Given the description of an element on the screen output the (x, y) to click on. 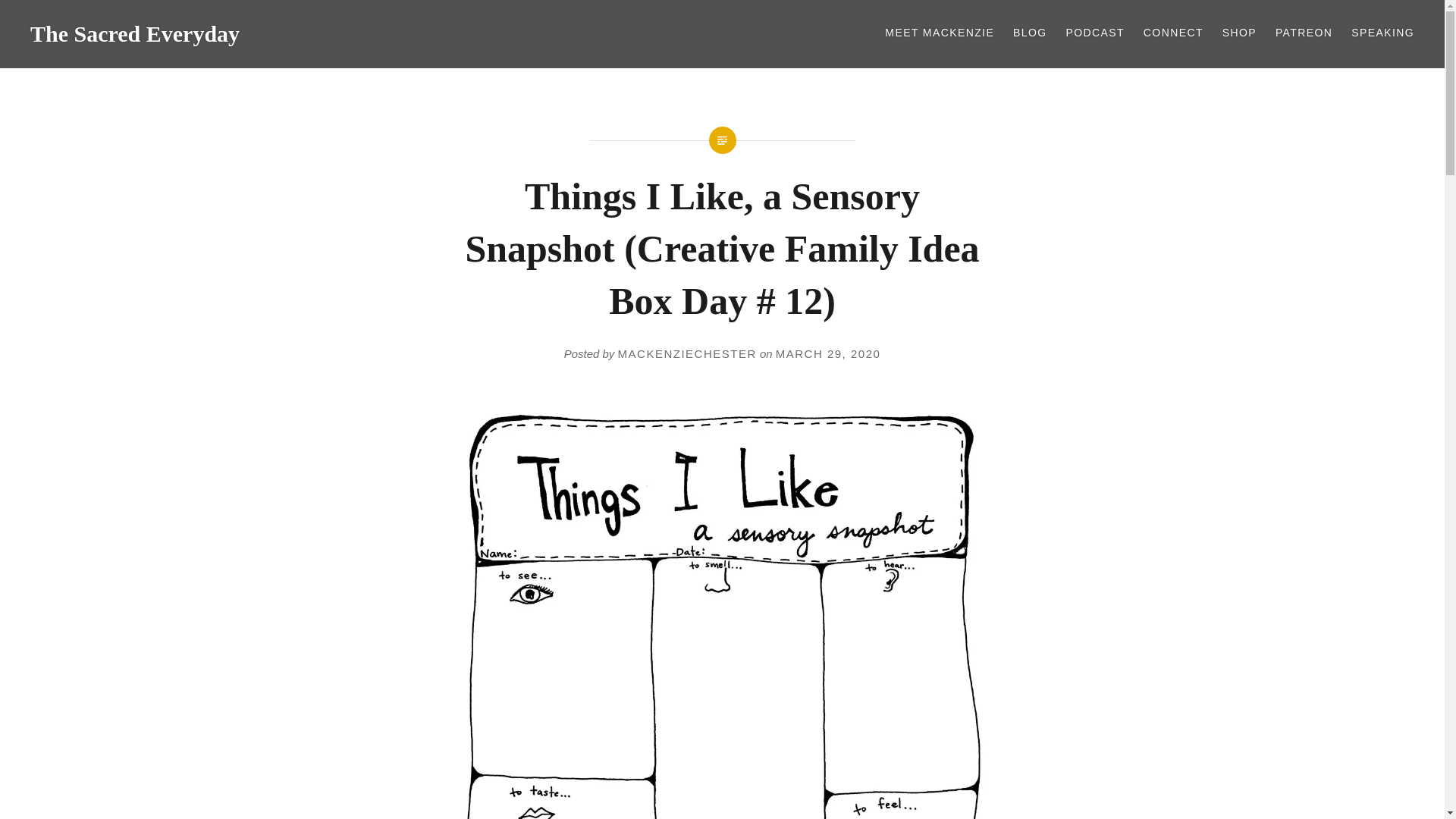
SPEAKING (1382, 32)
CONNECT (1173, 32)
The Sacred Everyday (135, 33)
MACKENZIECHESTER (687, 353)
MEET MACKENZIE (939, 32)
PATREON (1303, 32)
SHOP (1239, 32)
MARCH 29, 2020 (828, 353)
PODCAST (1094, 32)
BLOG (1029, 32)
